Given the description of an element on the screen output the (x, y) to click on. 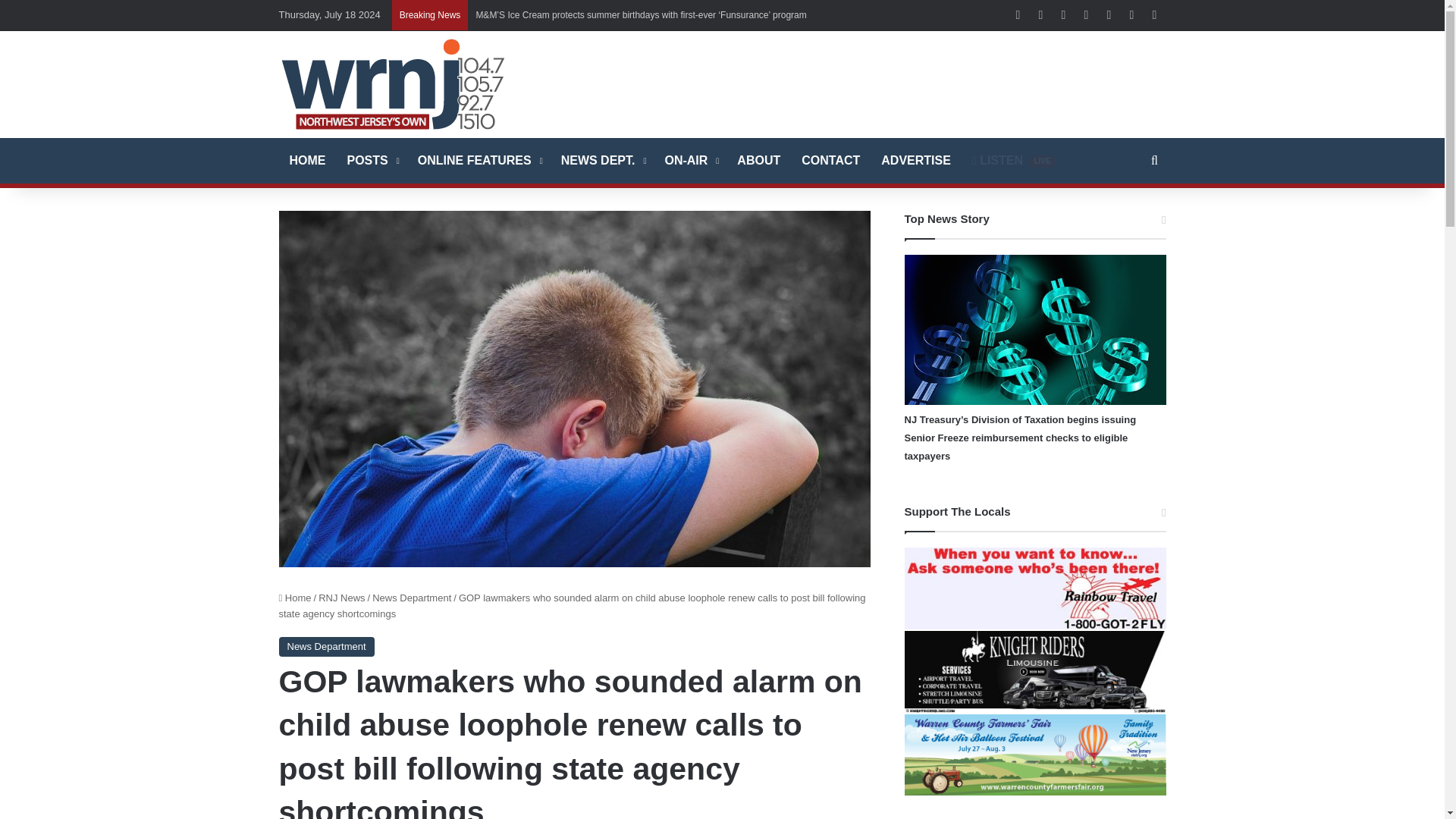
LinkedIn (1063, 15)
RSS (1131, 15)
ONLINE FEATURES (478, 160)
WRNJ Radio (392, 83)
Instagram (1109, 15)
NEWS DEPT. (601, 160)
Bandcamp (1154, 15)
POSTS (371, 160)
ON-AIR (689, 160)
Knight Riders Limo (1035, 671)
Facebook (1018, 15)
X (1040, 15)
ABOUT (758, 160)
YouTube (1086, 15)
CONTACT (830, 160)
